Given the description of an element on the screen output the (x, y) to click on. 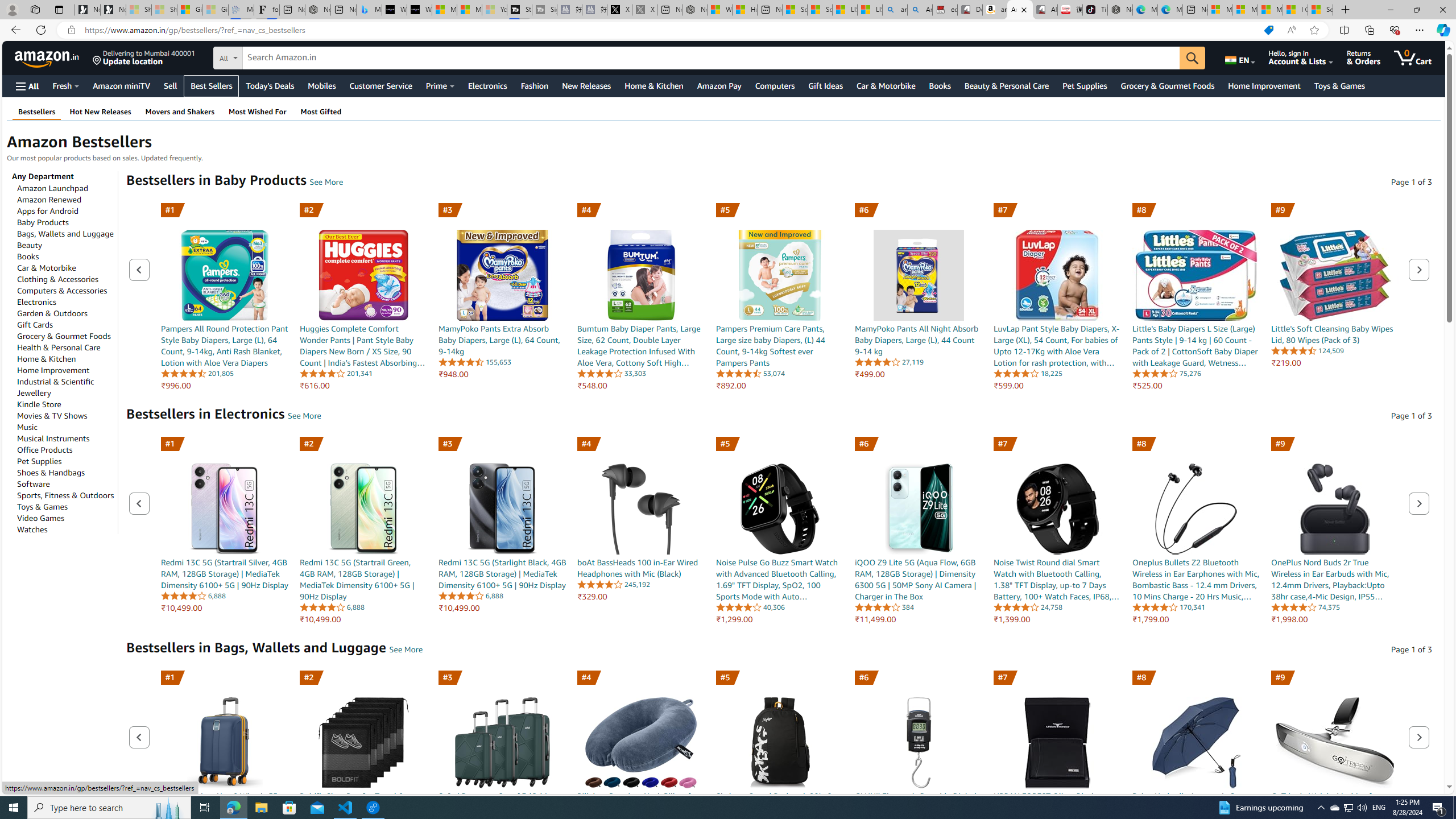
Little's Soft Cleansing Baby Wipes Lid, 80 Wipes (Pack of 3) (1335, 262)
Baby Products (42, 222)
Amazon Launchpad (52, 188)
Amazon.in Bestsellers: The most popular items on Amazon (1019, 9)
TikTok (1094, 9)
Home Improvement (53, 370)
Most Gifted (320, 111)
Newsletter Sign Up (113, 9)
